Given the description of an element on the screen output the (x, y) to click on. 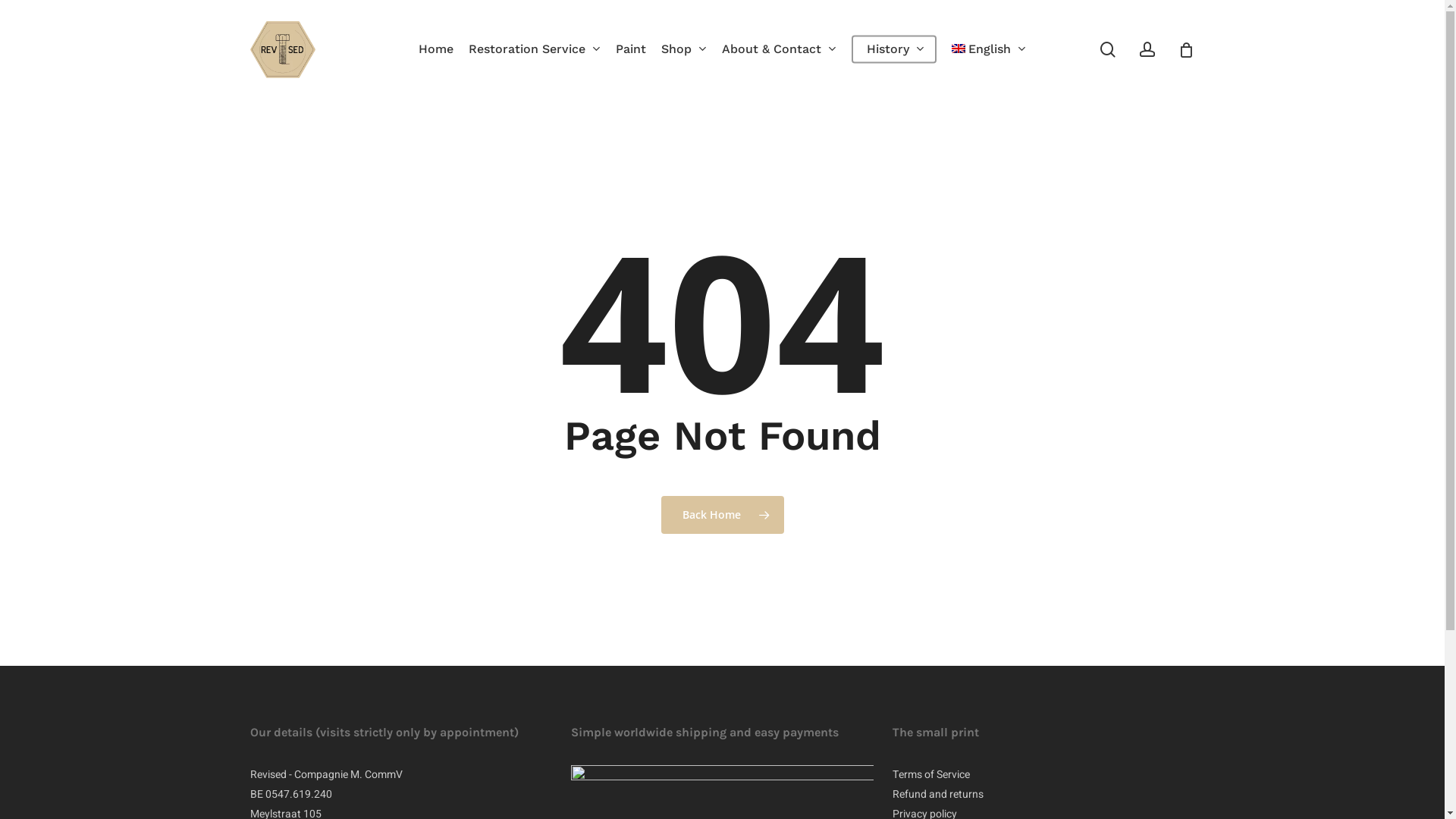
search Element type: text (1107, 49)
Shop Element type: text (683, 48)
Terms of Service Element type: text (930, 774)
History Element type: text (893, 48)
English Element type: text (988, 48)
About & Contact Element type: text (778, 48)
Restoration Service Element type: text (534, 48)
Refund and returns Element type: text (937, 794)
Home Element type: text (435, 48)
Back Home Element type: text (722, 514)
Paint Element type: text (630, 48)
account Element type: text (1147, 49)
